Given the description of an element on the screen output the (x, y) to click on. 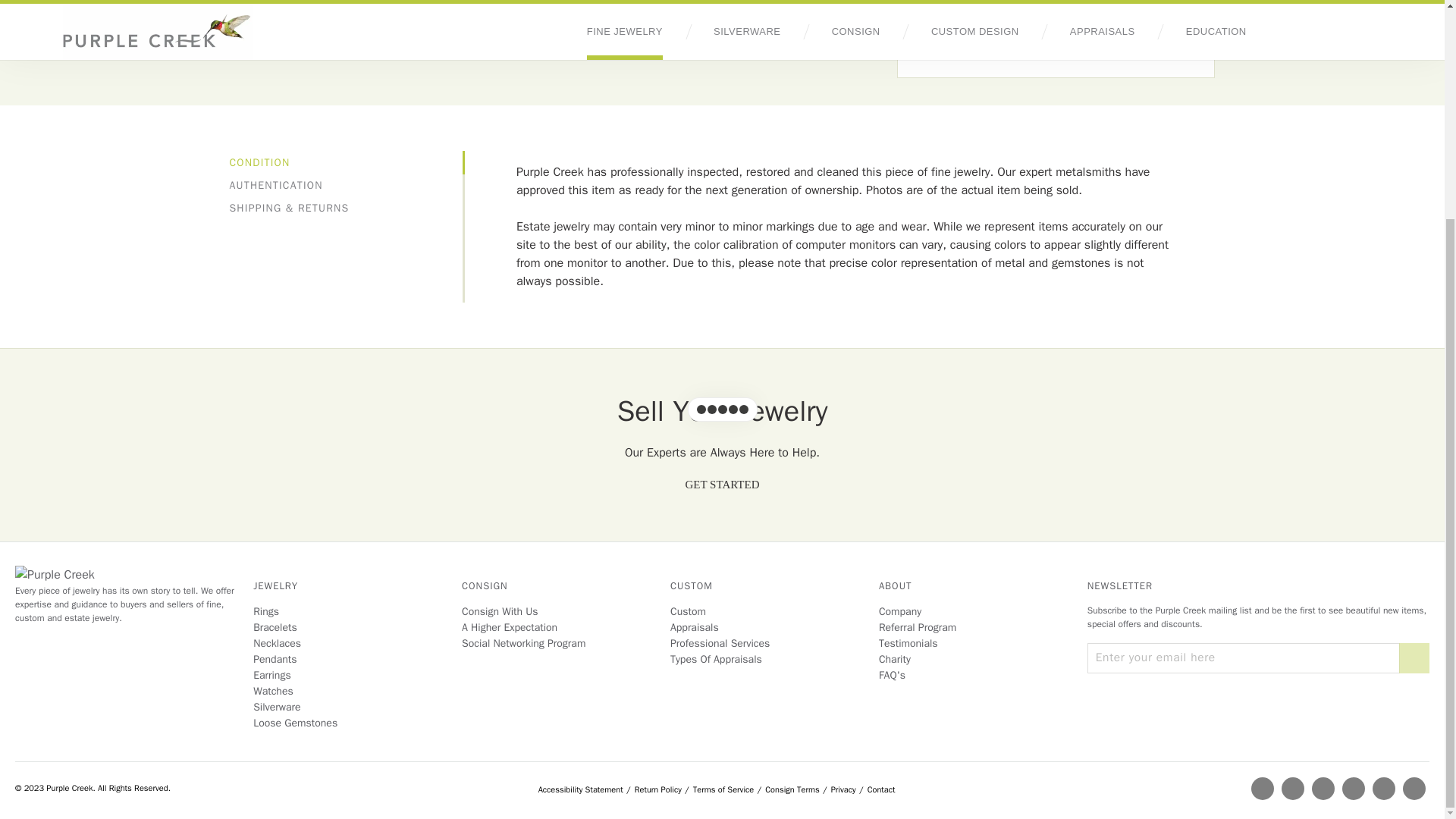
Follow us on TikTok (1414, 788)
Follow us on Pinterest (1353, 788)
Enter your email address to subscribe (1243, 657)
Follow us on Twitter (1262, 788)
Follow us on Facebook (1292, 788)
Follow us on YouTube (1383, 788)
Follow us on Instagram (1323, 788)
